Given the description of an element on the screen output the (x, y) to click on. 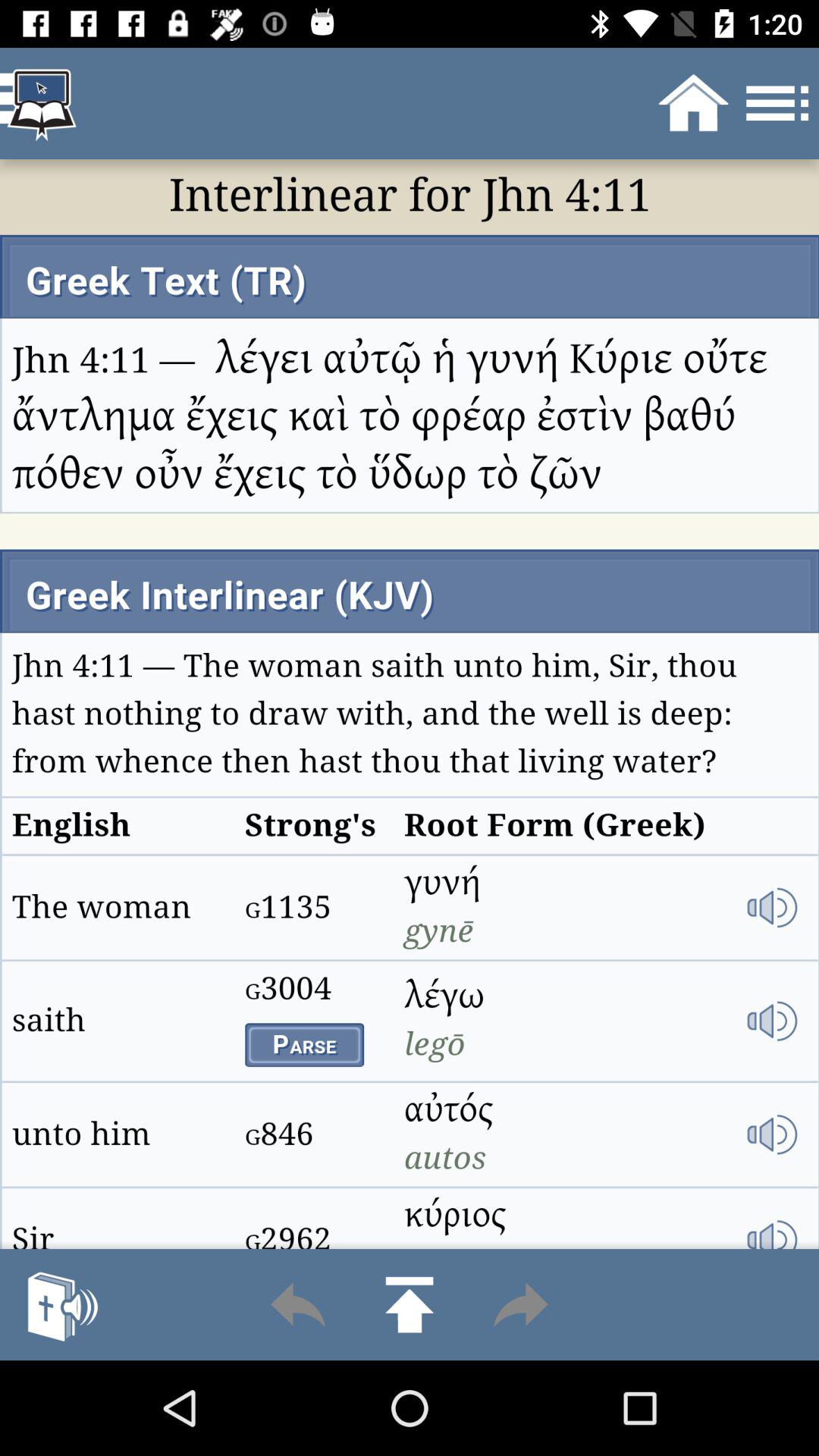
up arrow botton (409, 1304)
